Given the description of an element on the screen output the (x, y) to click on. 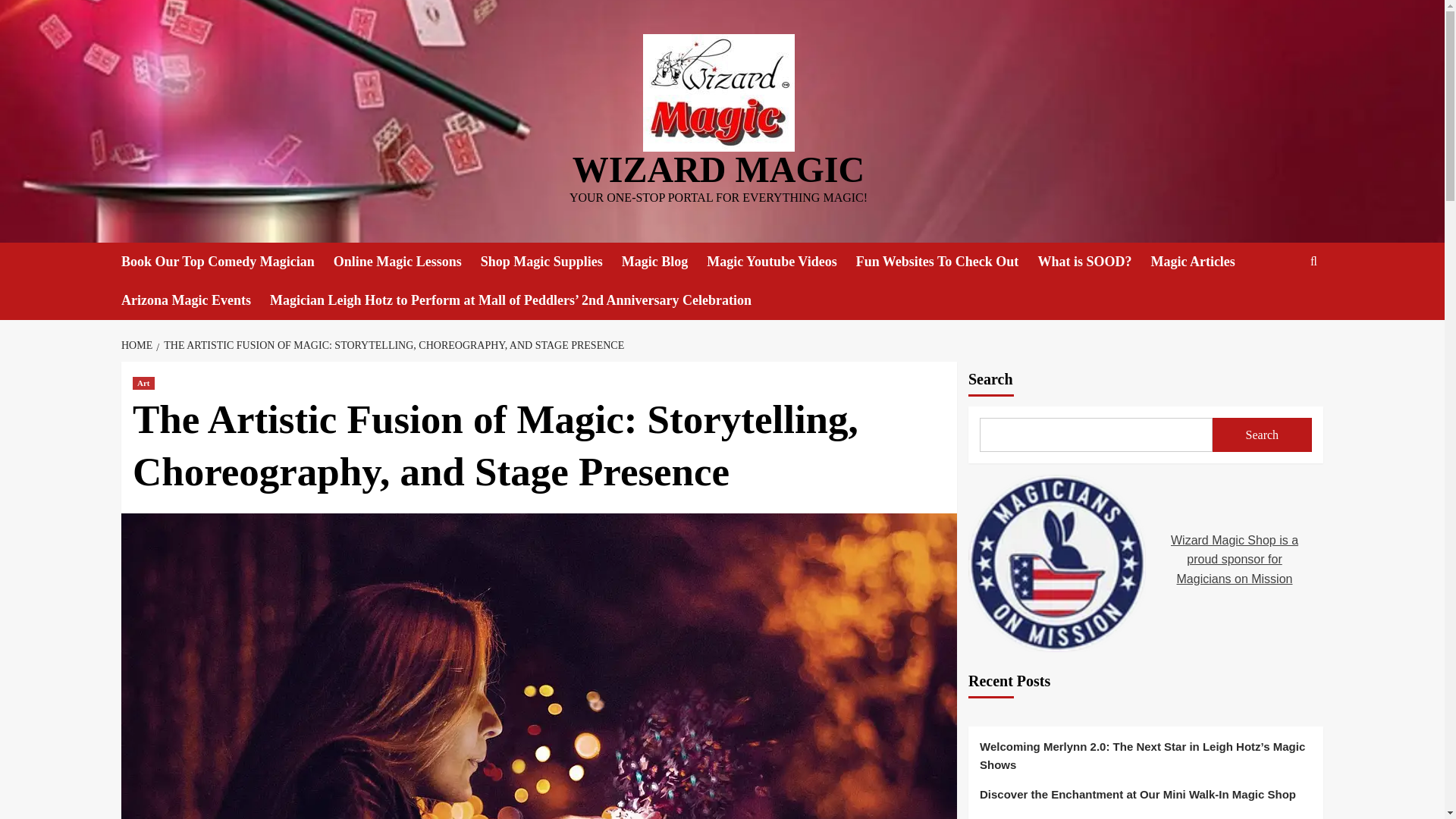
HOME (137, 345)
Art (143, 382)
Discover the Enchantment at Our Mini Walk-In Magic Shop (1145, 799)
Online Magic Lessons (406, 261)
Magic Youtube Videos (781, 261)
Magic Blog (664, 261)
Search (1278, 308)
What is SOOD? (1093, 261)
Fun Websites To Check Out (947, 261)
Magic Articles (1201, 261)
Shop Magic Supplies (550, 261)
Search (1261, 434)
Book Our Top Comedy Magician (226, 261)
WIZARD MAGIC (718, 169)
